Given the description of an element on the screen output the (x, y) to click on. 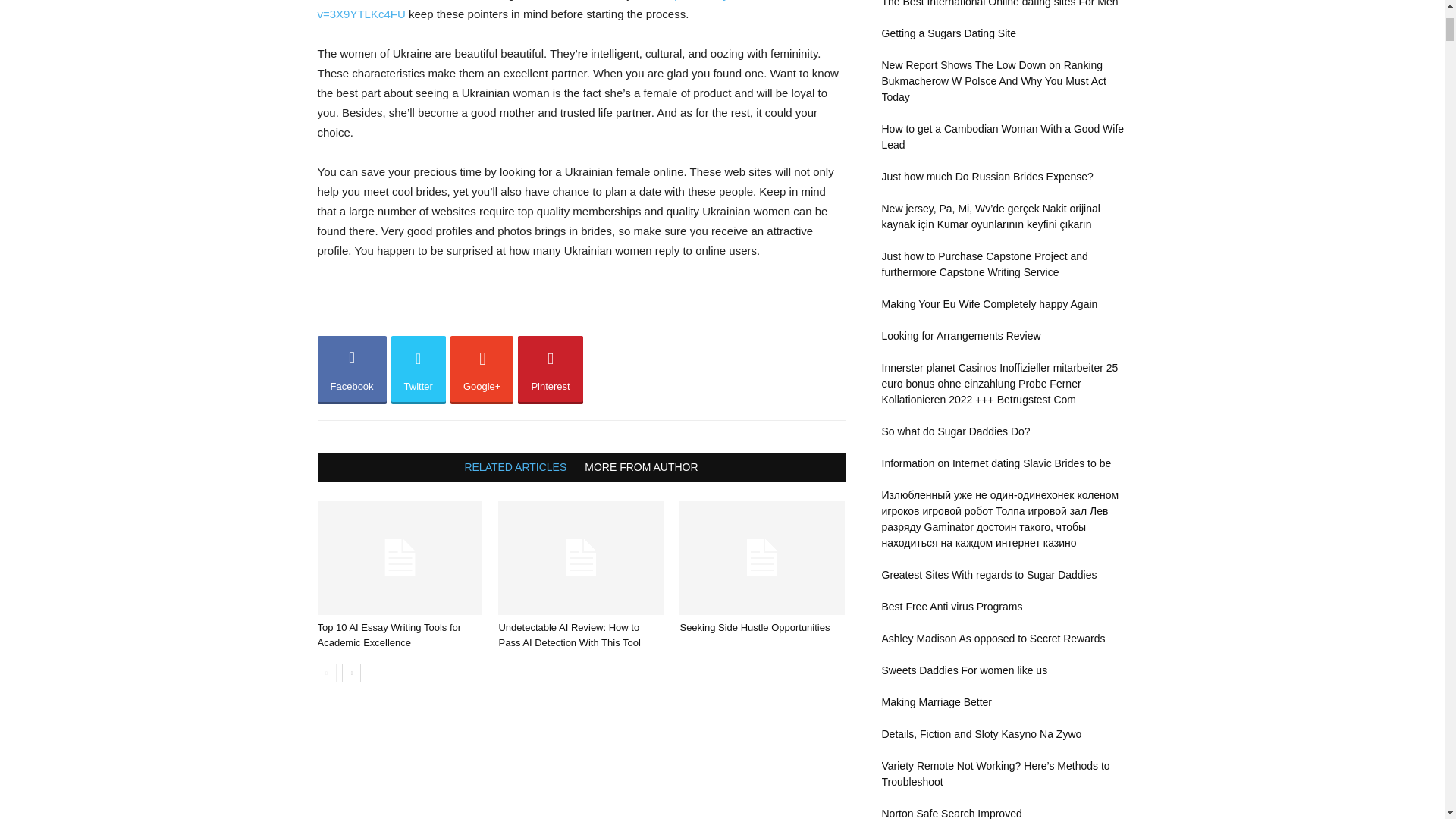
Seeking Side Hustle Opportunities (754, 627)
Facebook (351, 369)
Top 10 AI Essay Writing Tools for Academic Excellence (399, 558)
Top 10 AI Essay Writing Tools for Academic Excellence (389, 634)
Seeking Side Hustle Opportunities (761, 558)
Pinterest (550, 369)
